Given the description of an element on the screen output the (x, y) to click on. 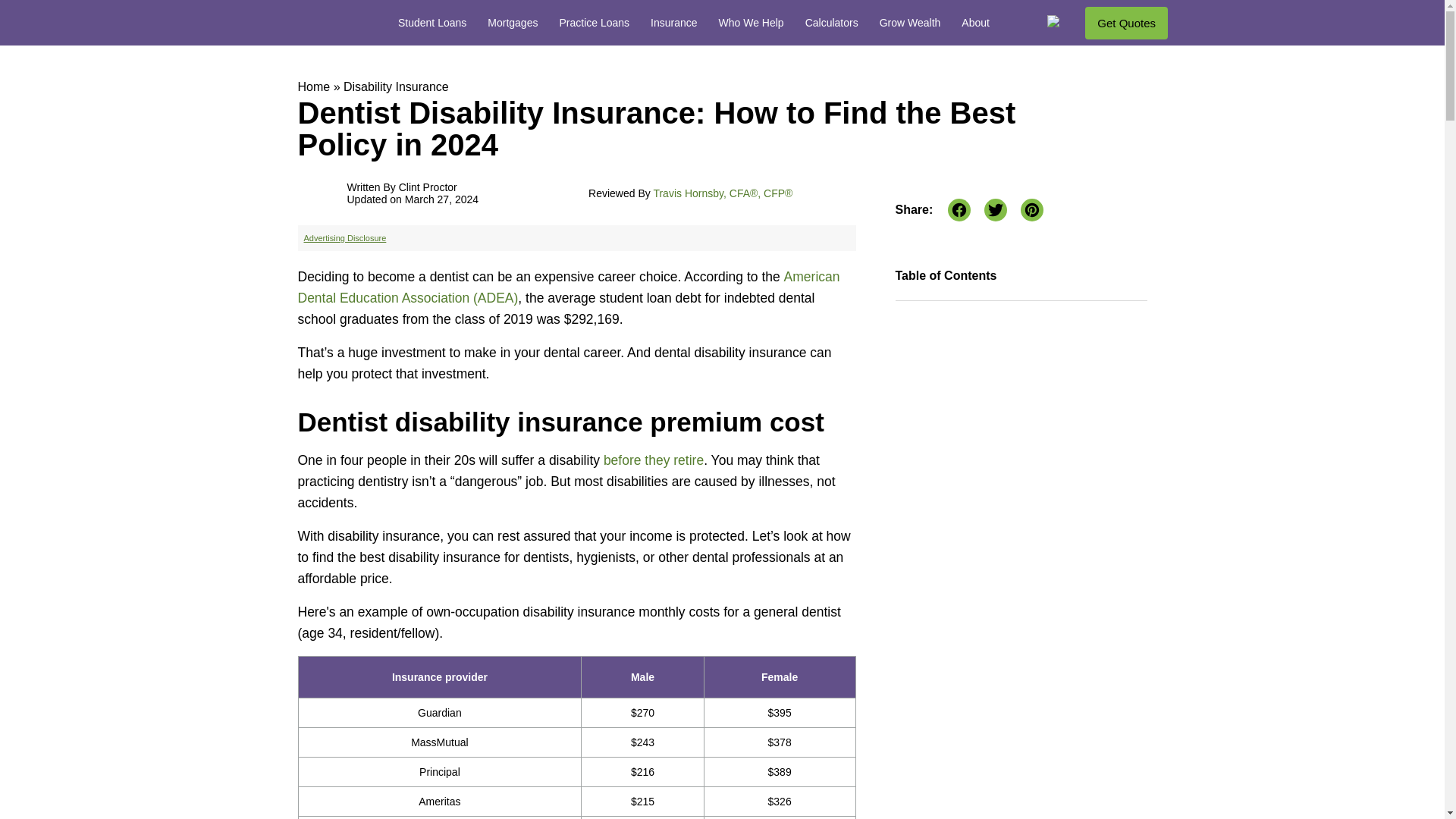
Share on Twitter (995, 210)
Student Loan Planner (322, 21)
Share on Facebook (959, 210)
Share on Pinterest (1031, 210)
